Given the description of an element on the screen output the (x, y) to click on. 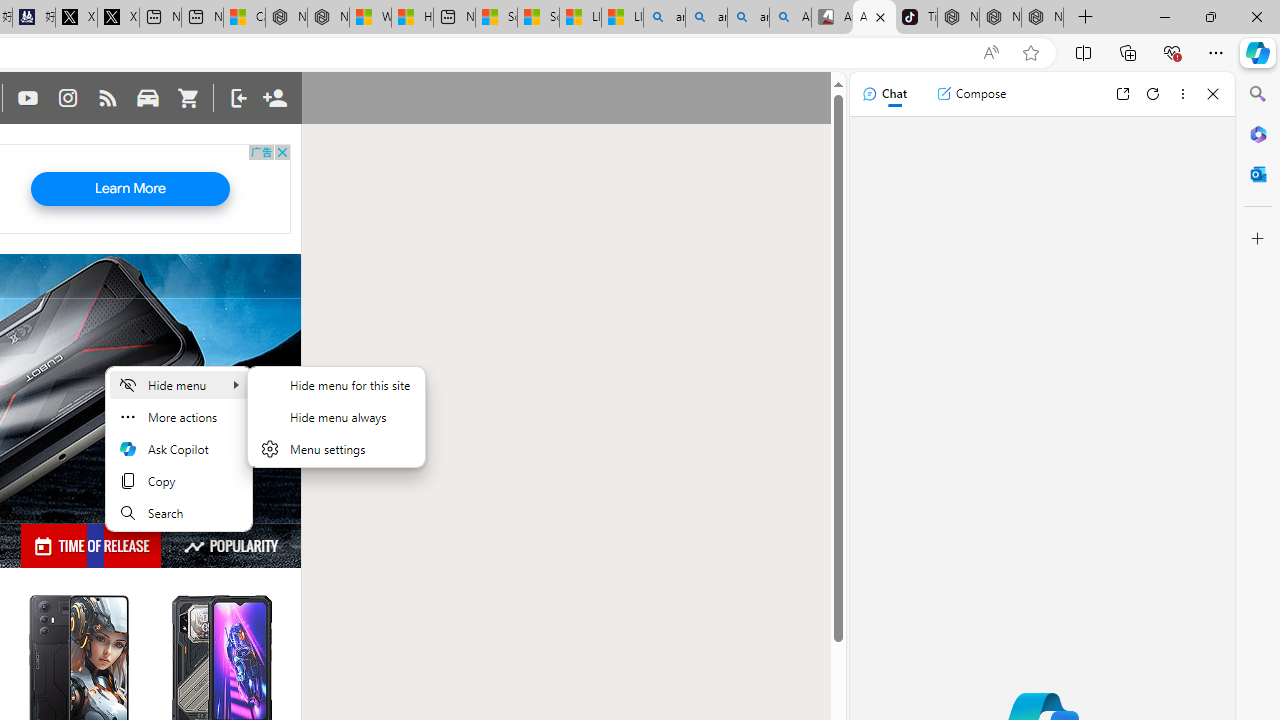
All Cubot phones (873, 17)
More actions (179, 416)
Compose (971, 93)
Copy (179, 480)
More options (1182, 93)
X (118, 17)
Ask Copilot (179, 448)
